Given the description of an element on the screen output the (x, y) to click on. 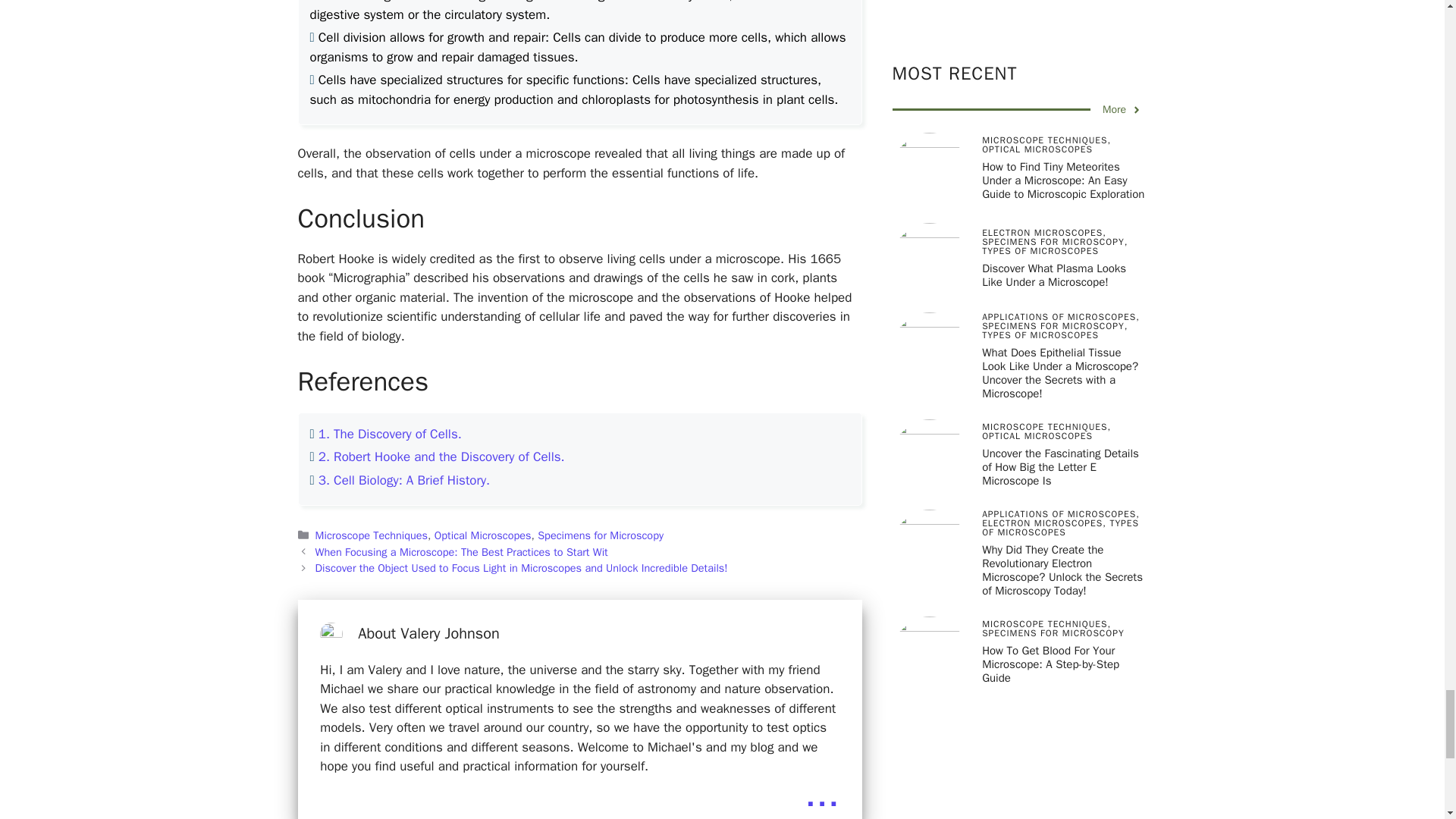
Optical Microscopes (482, 535)
3. Cell Biology: A Brief History. (403, 480)
Read more (822, 793)
Microscope Techniques (371, 535)
1. The Discovery of Cells. (389, 433)
2. Robert Hooke and the Discovery of Cells. (441, 456)
